Given the description of an element on the screen output the (x, y) to click on. 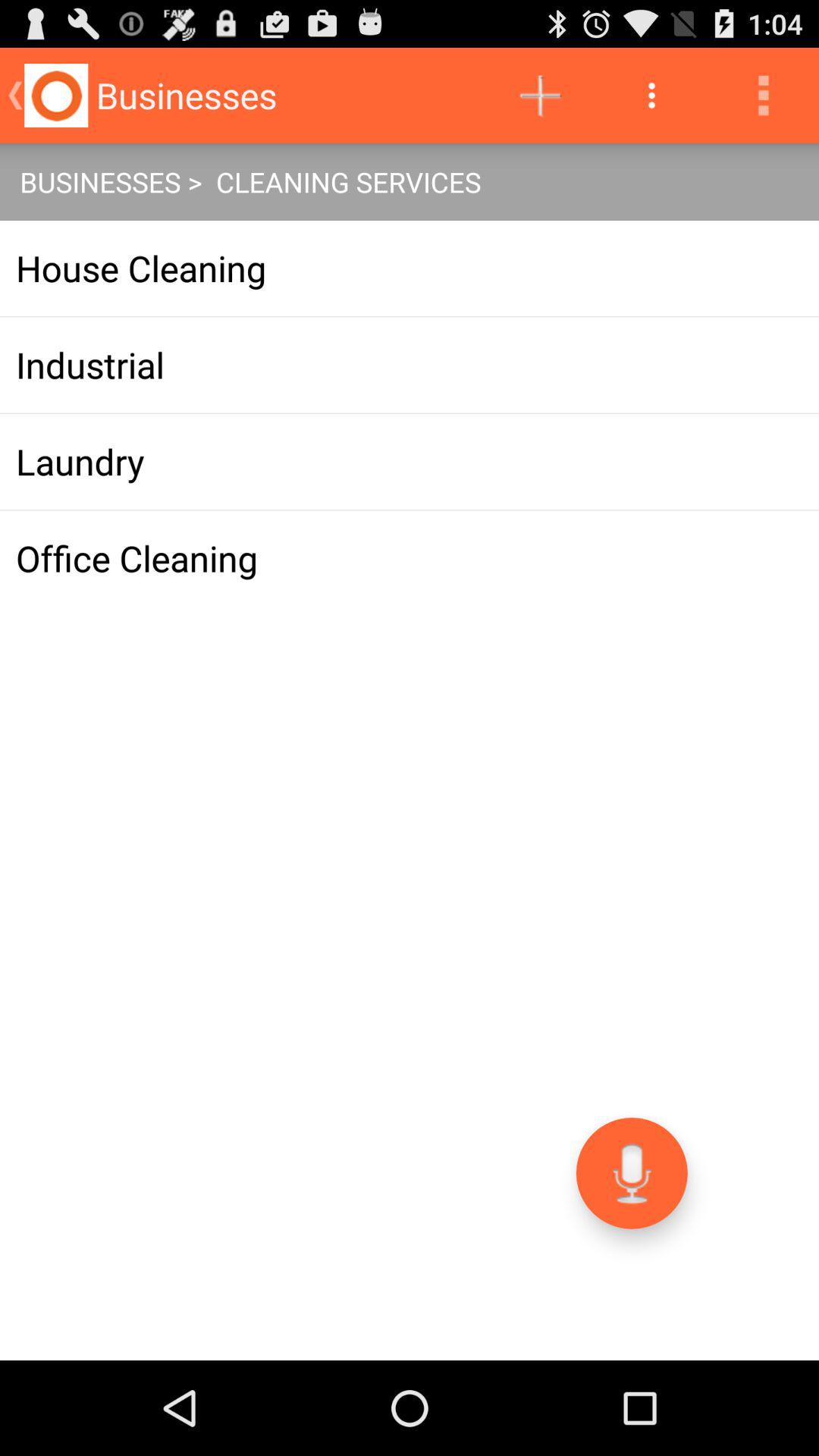
swipe to office cleaning (409, 558)
